Given the description of an element on the screen output the (x, y) to click on. 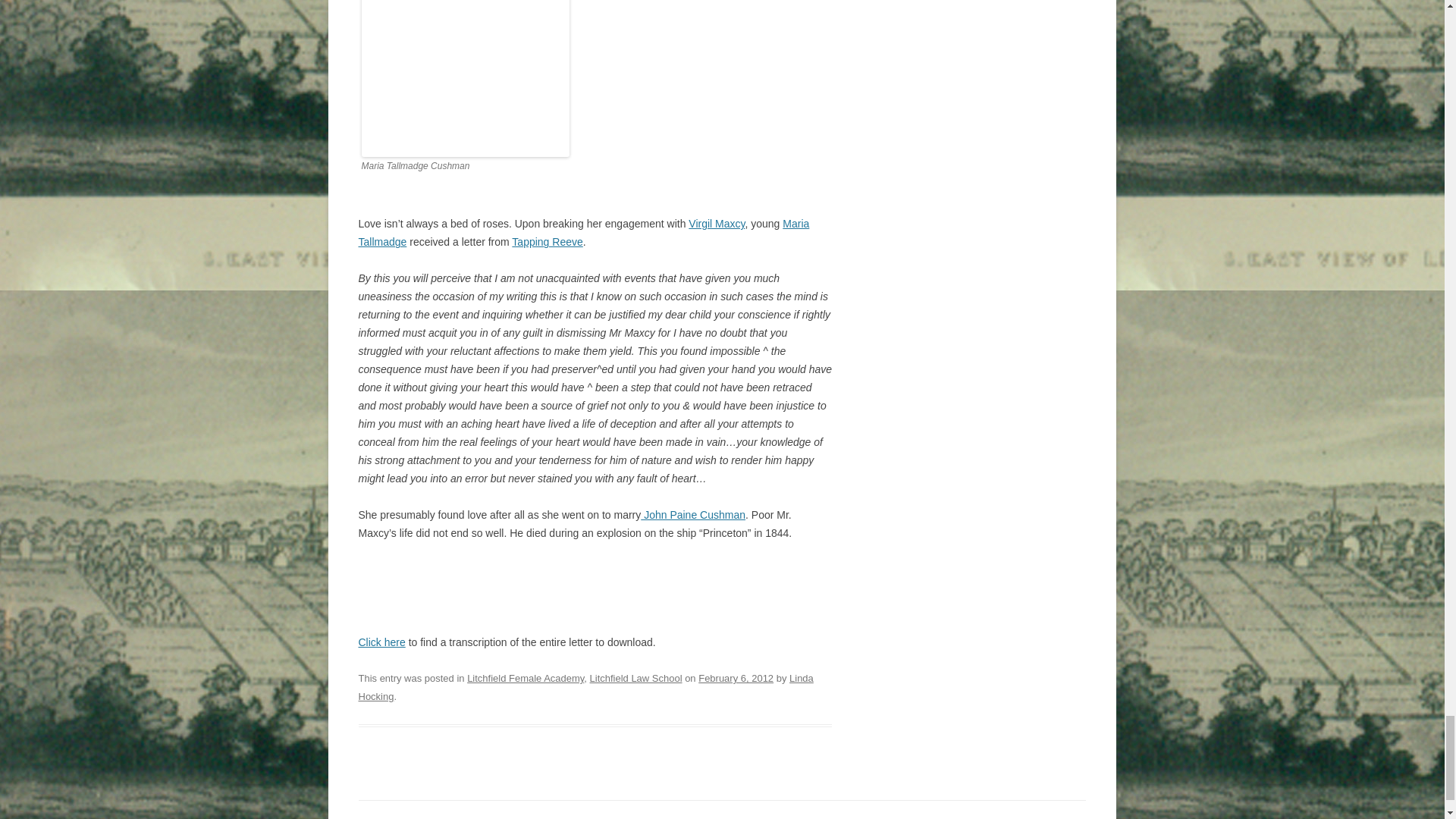
View all posts by Linda Hocking (585, 686)
Maria Tallmadge Cushman (465, 78)
5:05 pm (735, 677)
